Given the description of an element on the screen output the (x, y) to click on. 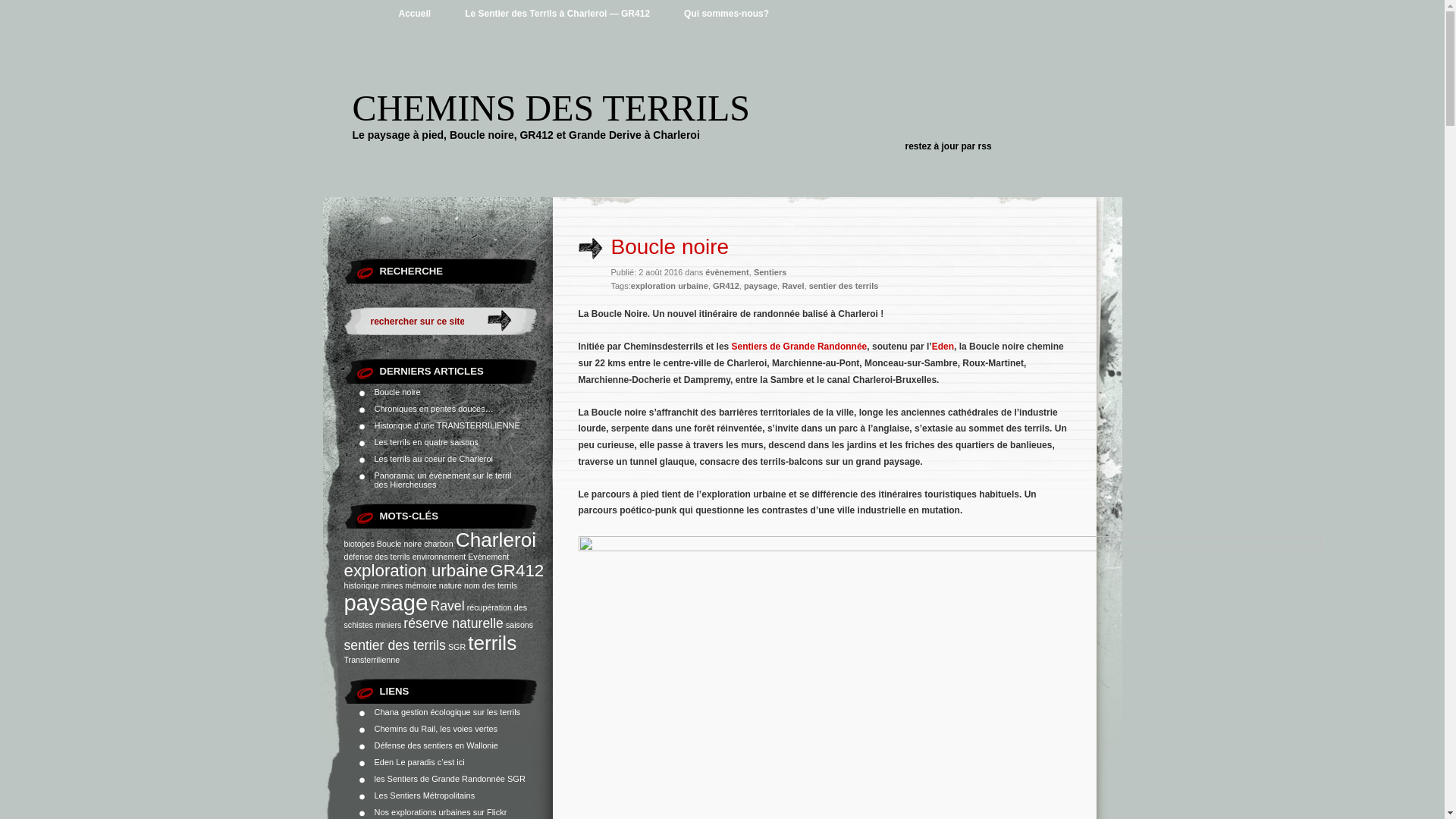
terrils Element type: text (491, 642)
paysage Element type: text (386, 602)
mines Element type: text (391, 584)
nature Element type: text (450, 584)
GR412 Element type: text (516, 570)
saisons Element type: text (519, 624)
Qui sommes-nous? Element type: text (726, 13)
CHEMINS DES TERRILS Element type: text (550, 107)
sentier des terrils Element type: text (394, 644)
Charleroi Element type: text (495, 539)
exploration urbaine Element type: text (669, 285)
charbon Element type: text (438, 543)
GR412 Element type: text (725, 285)
exploration urbaine Element type: text (416, 570)
paysage Element type: text (760, 285)
Boucle noire Element type: text (397, 391)
Ravel Element type: text (792, 285)
Les terrils au coeur de Charleroi Element type: text (433, 458)
Chana Element type: text (386, 711)
environnement Element type: text (439, 556)
Nos explorations urbaines Element type: text (422, 811)
historique Element type: text (361, 584)
Boucle noire Element type: text (398, 543)
Sentiers Element type: text (769, 271)
sentier des terrils Element type: text (843, 285)
biotopes Element type: text (359, 543)
Les terrils en quatre saisons Element type: text (426, 441)
SGR Element type: text (456, 646)
Ravel Element type: text (446, 605)
Accueil Element type: text (415, 13)
Eden Element type: text (384, 761)
Transterrilienne Element type: text (372, 659)
Eden Element type: text (942, 346)
nom des terrils Element type: text (490, 584)
Chemins du Rail, les voies vertes Element type: text (436, 728)
